Given the description of an element on the screen output the (x, y) to click on. 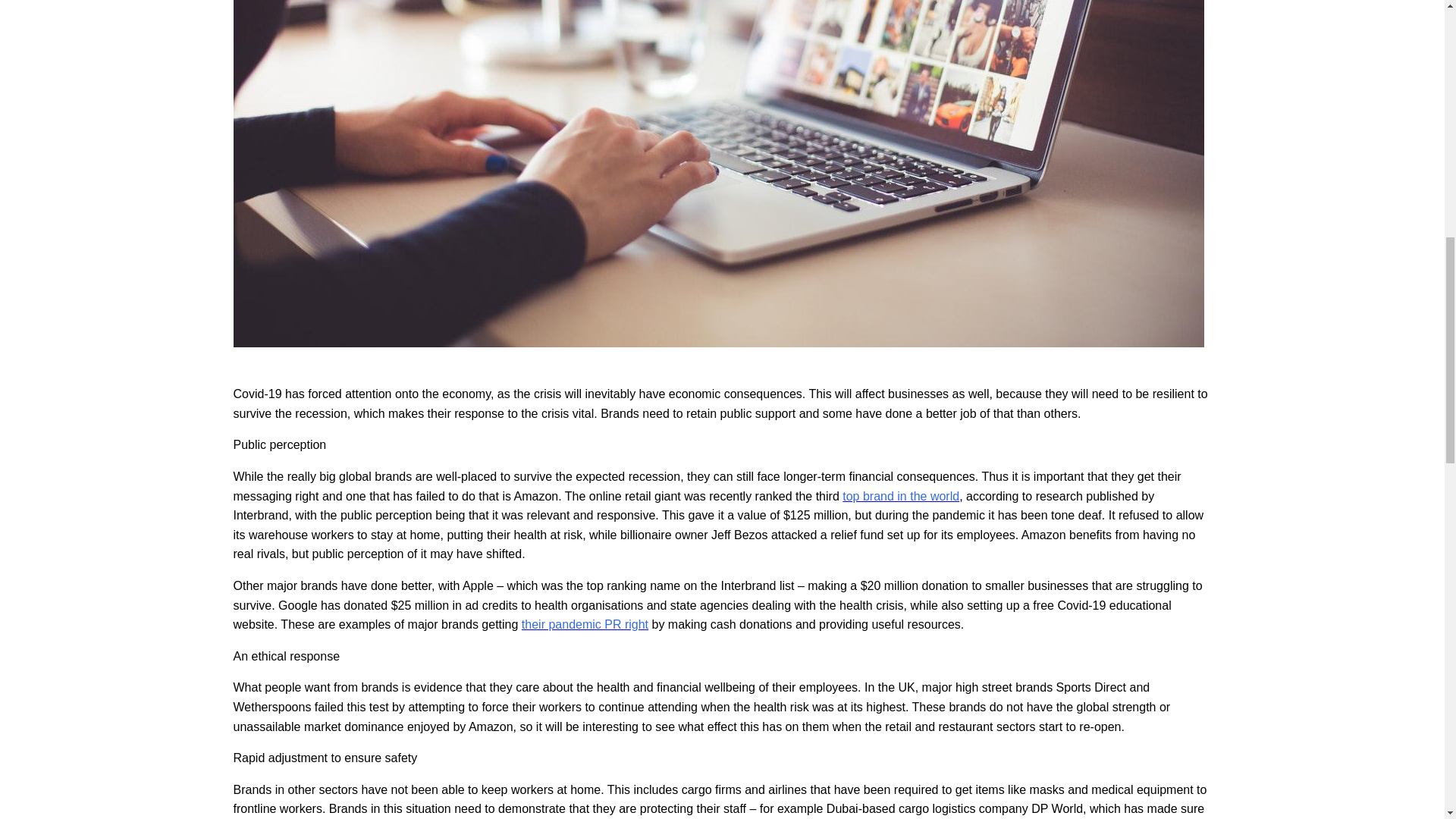
their pandemic PR right (584, 624)
top brand in the world (901, 495)
